Given the description of an element on the screen output the (x, y) to click on. 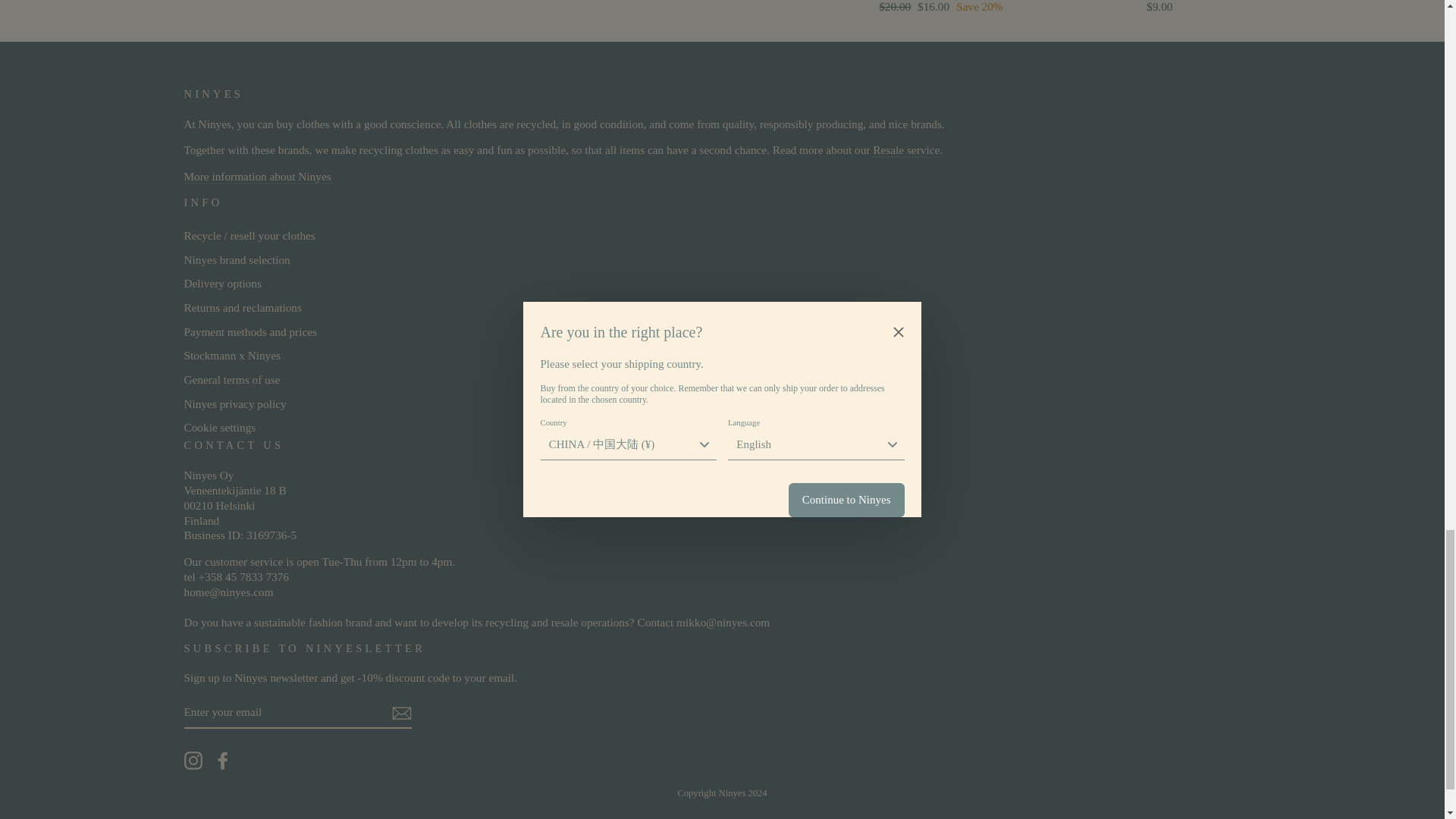
Ninyes on Instagram (192, 760)
Ninyes on Facebook (222, 760)
About us (256, 176)
Resale program (905, 150)
